Given the description of an element on the screen output the (x, y) to click on. 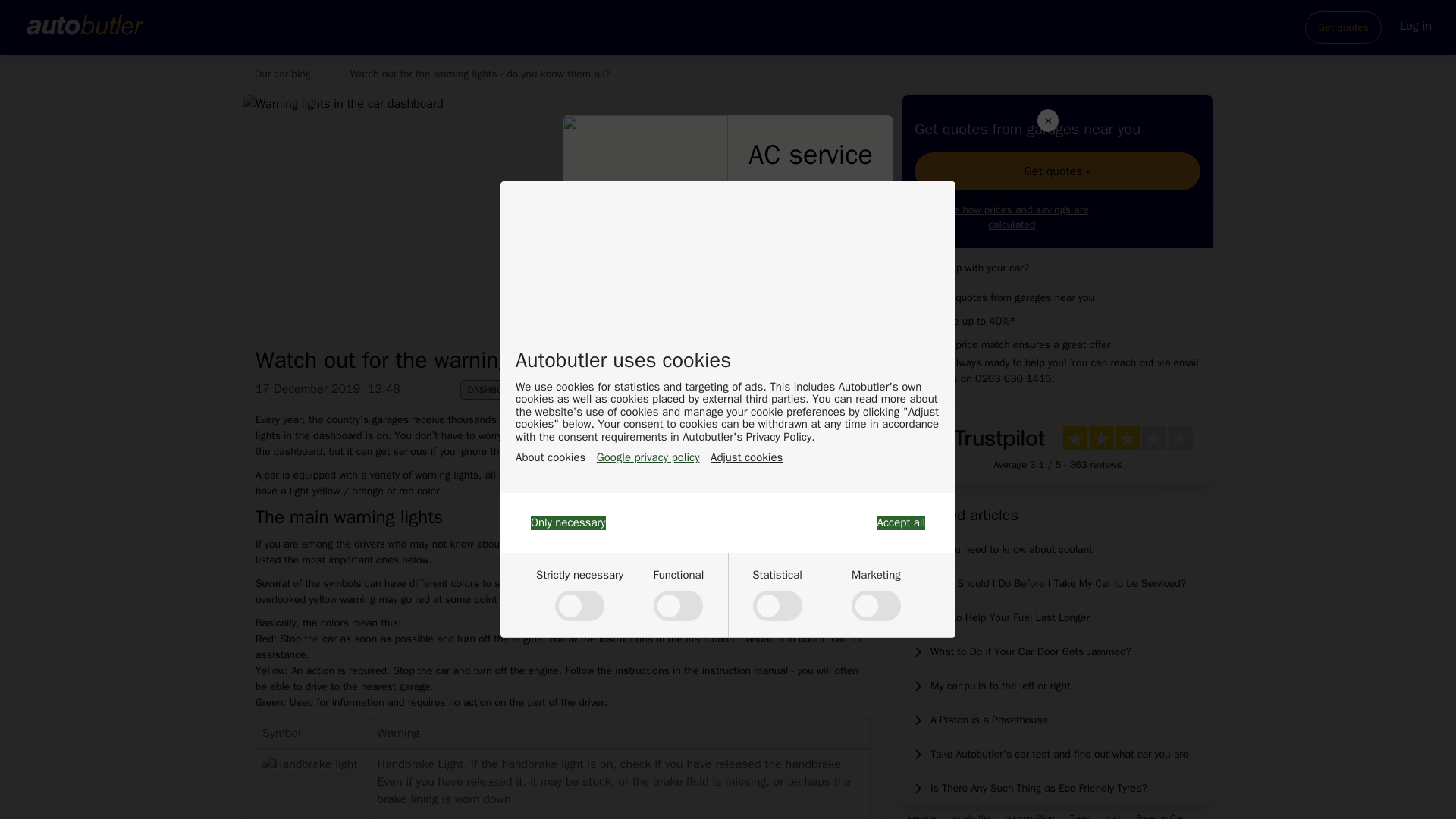
About cookies (550, 457)
Accept all (900, 522)
Only necessary (568, 522)
Adjust cookies (746, 457)
Google privacy policy (648, 457)
